Given the description of an element on the screen output the (x, y) to click on. 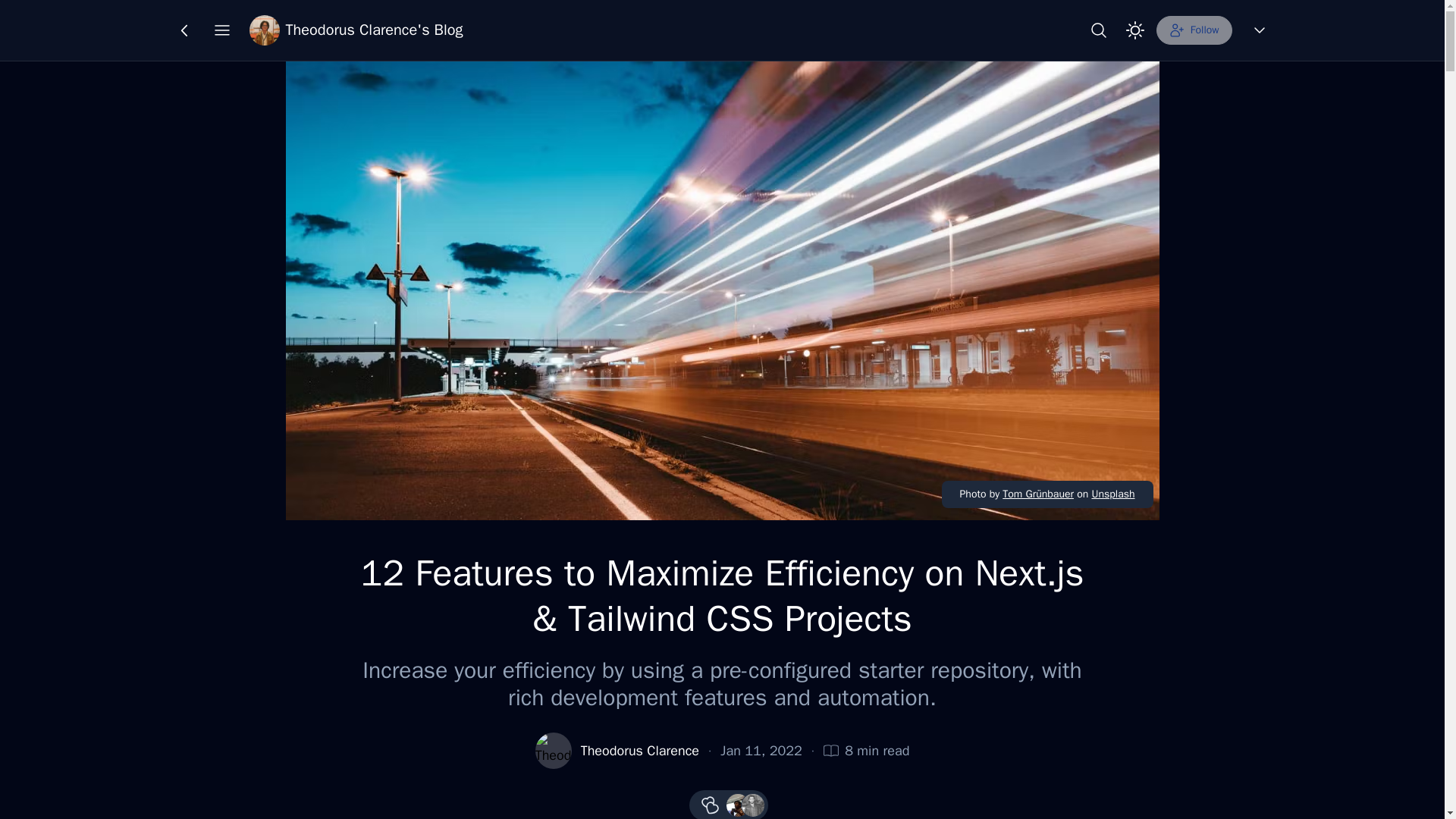
Theodorus Clarence (639, 750)
Unsplash (1112, 493)
Theodorus Clarence's Blog (355, 30)
Follow (1193, 30)
Jan 11, 2022 (761, 750)
